Given the description of an element on the screen output the (x, y) to click on. 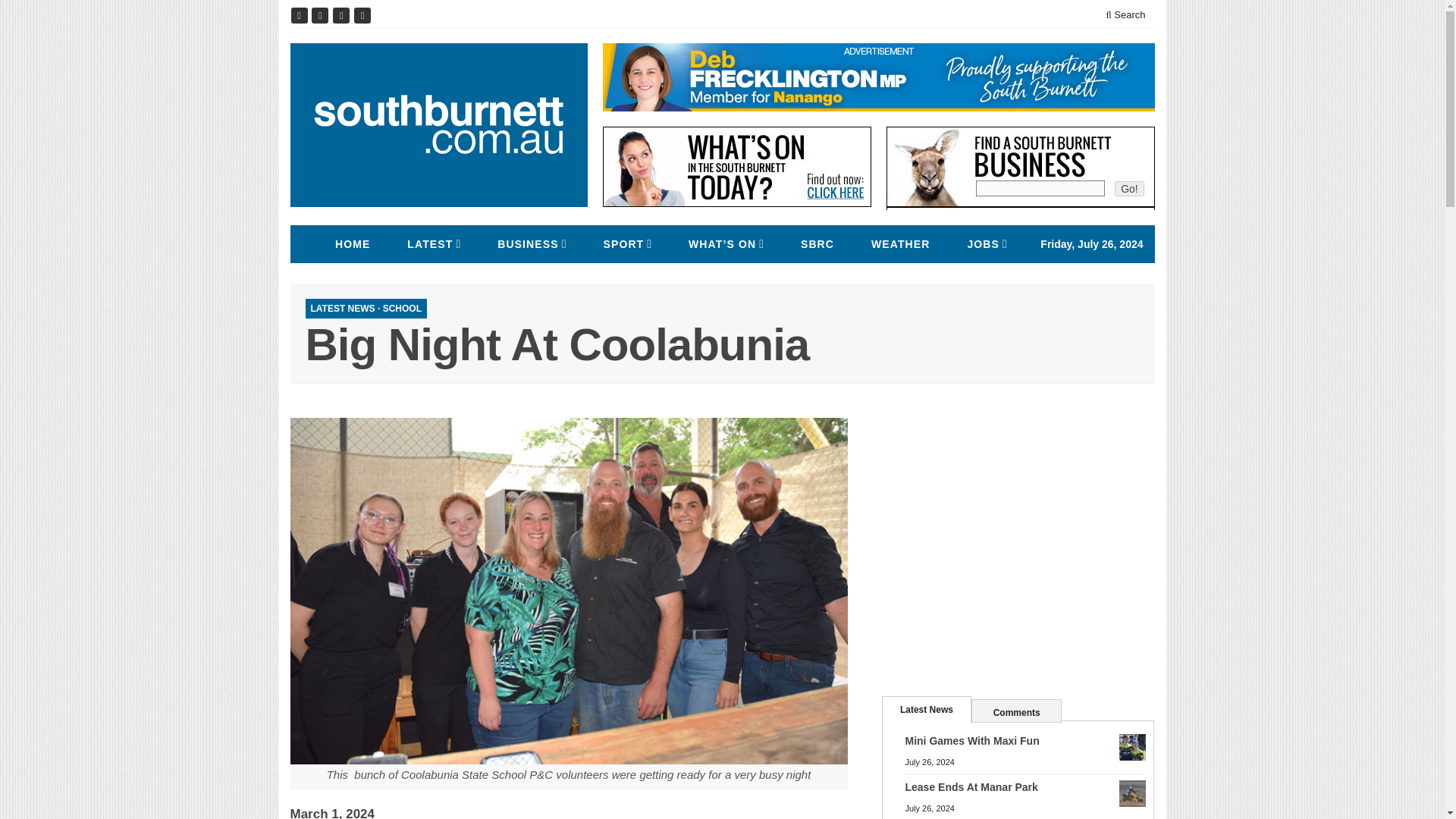
SPORT (622, 243)
Advertisement (1017, 538)
BUSINESS (528, 243)
Go! (1129, 188)
HOME (351, 243)
LATEST (429, 243)
Go! (1129, 188)
Search (1125, 14)
Twitter (321, 15)
southburnett.com.au (437, 125)
Facebook (300, 15)
Site feed (362, 15)
Youtube (342, 15)
